Given the description of an element on the screen output the (x, y) to click on. 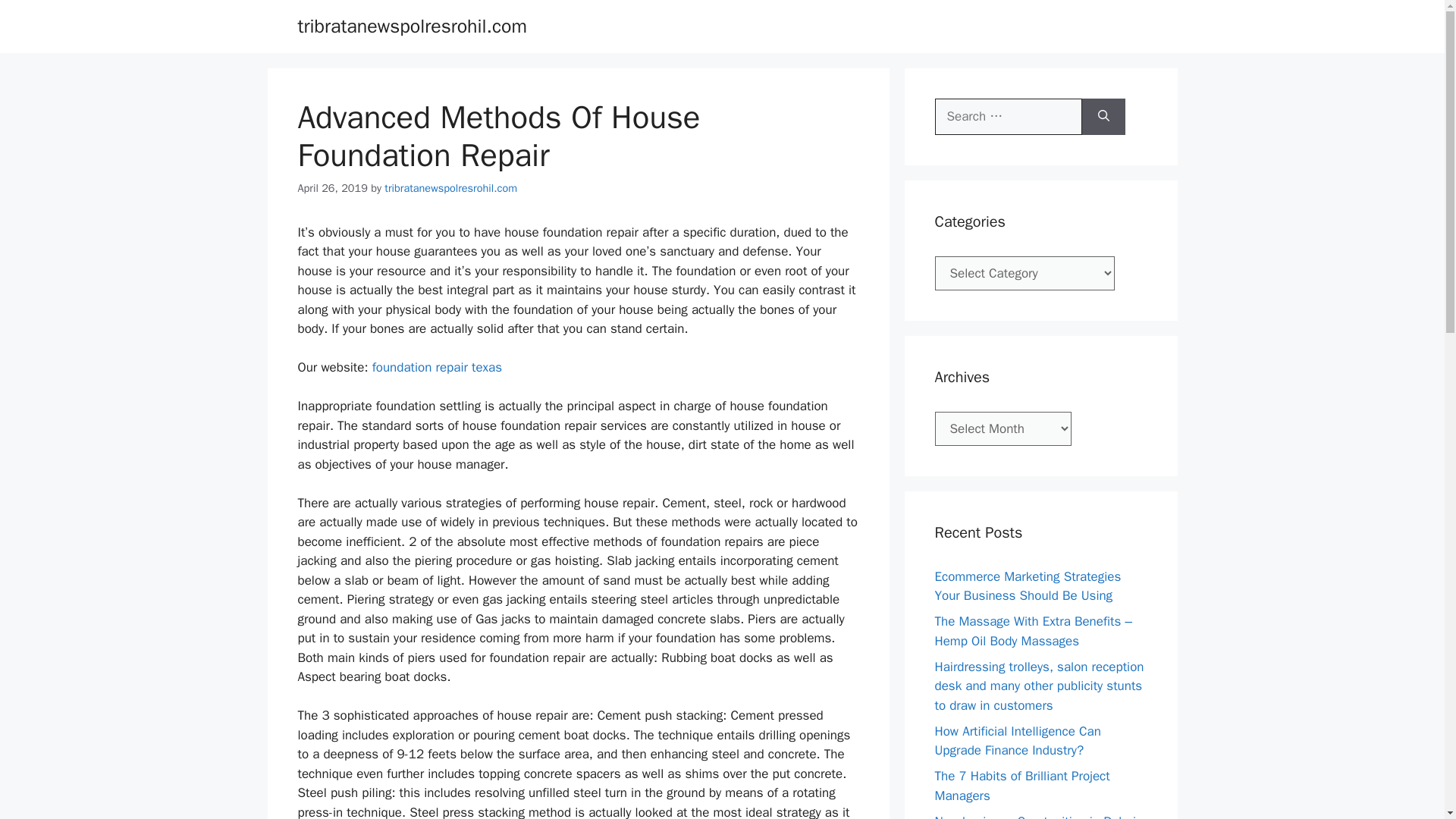
Ecommerce Marketing Strategies Your Business Should Be Using (1027, 586)
tribratanewspolresrohil.com (412, 25)
How Artificial Intelligence Can Upgrade Finance Industry? (1017, 741)
The 7 Habits of Brilliant Project Managers (1021, 785)
New business Opertunities in Dubai (1034, 816)
Search for: (1007, 116)
tribratanewspolresrohil.com (450, 187)
View all posts by tribratanewspolresrohil.com (450, 187)
foundation repair texas (437, 367)
